Given the description of an element on the screen output the (x, y) to click on. 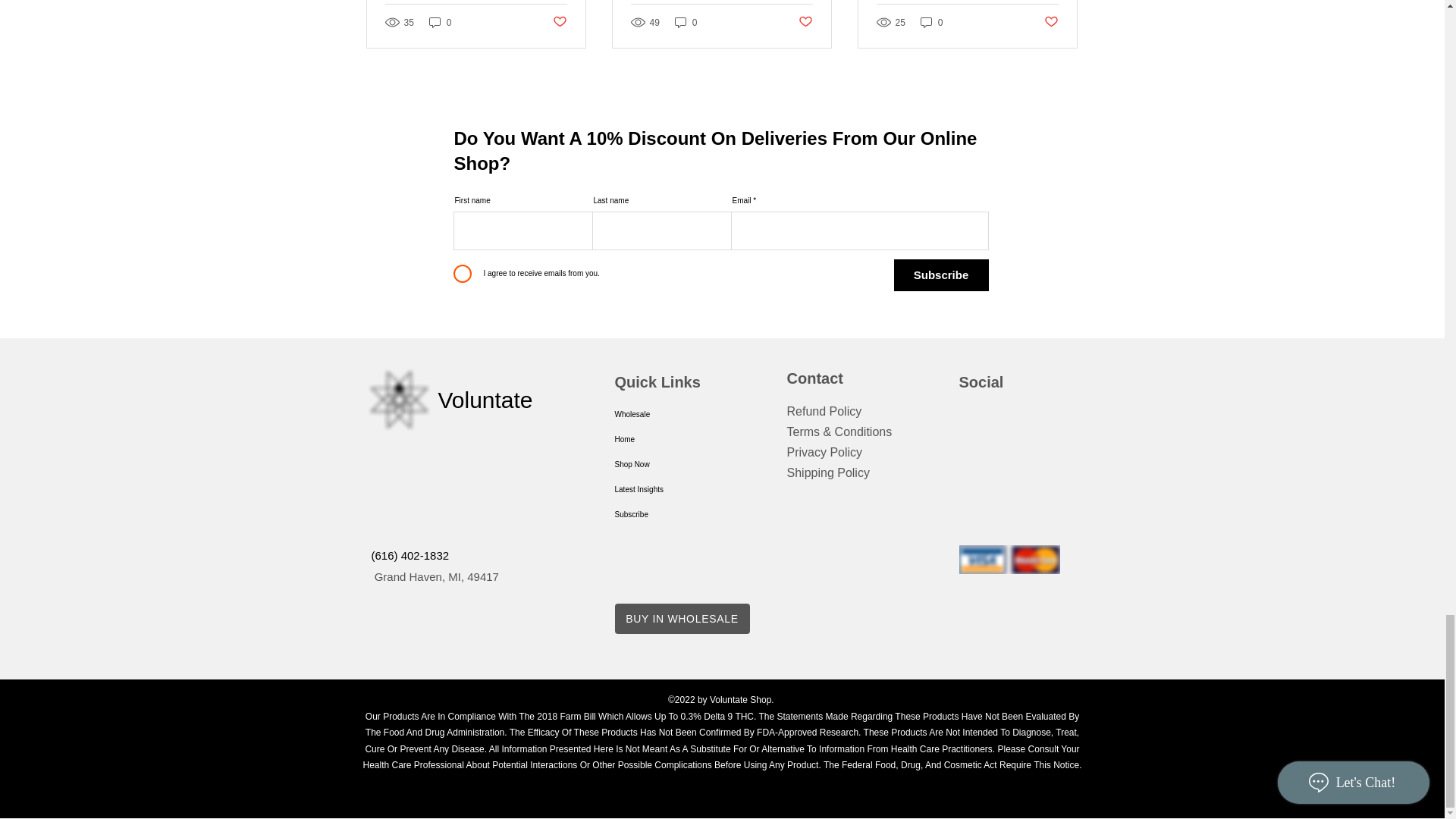
0 (685, 22)
Subscribe (940, 275)
Post not marked as liked (558, 22)
Subscribe (674, 514)
0 (440, 22)
Home (674, 439)
Latest Insights (674, 489)
Post not marked as liked (804, 22)
Voluntate (485, 399)
Shop Now (674, 464)
Wholesale (674, 414)
0 (931, 22)
Post not marked as liked (1050, 22)
